Given the description of an element on the screen output the (x, y) to click on. 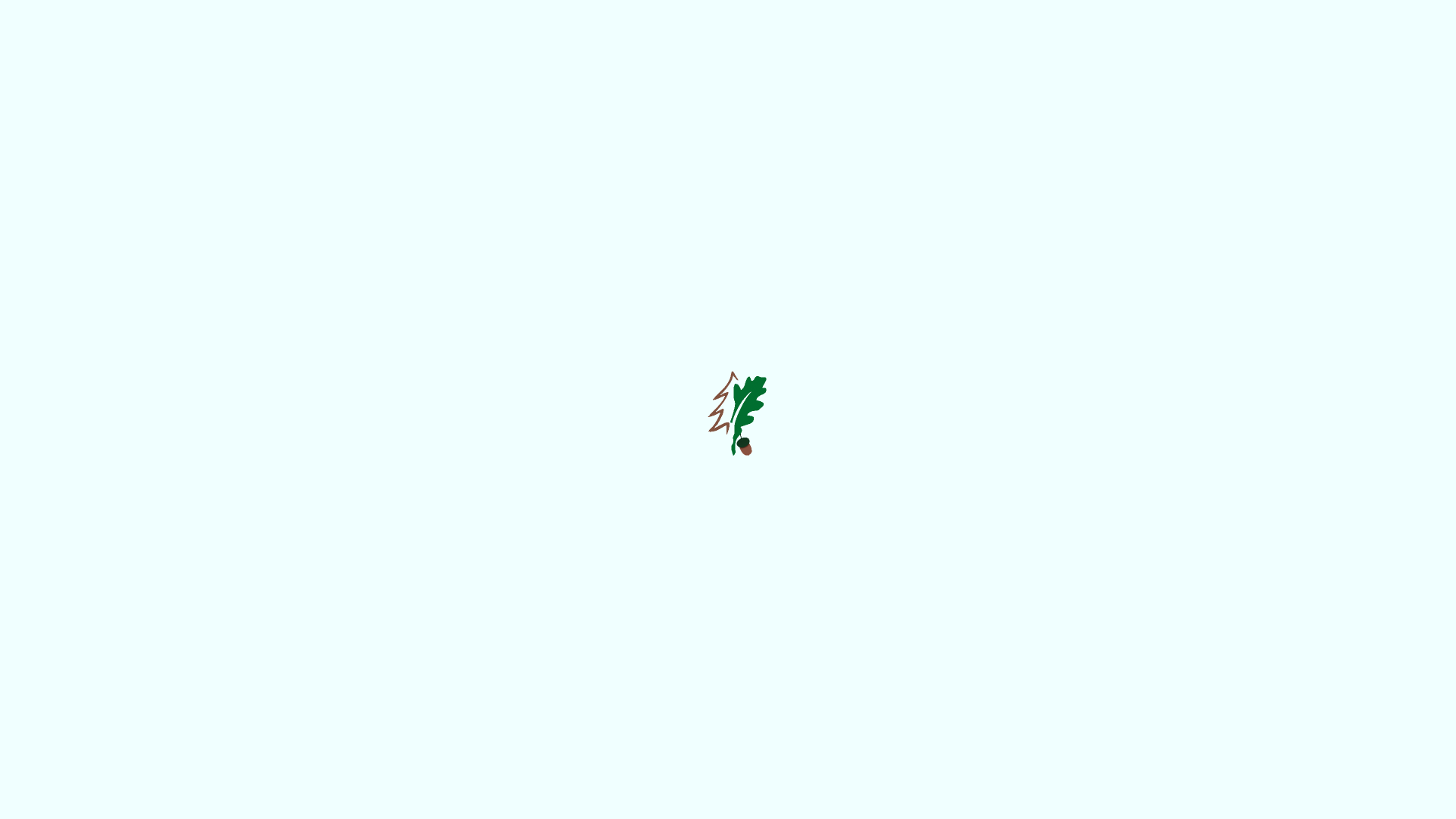
EN Element type: text (594, 43)
INFO@BORISOVLESHOZ.BY Element type: text (1088, 592)
RU Element type: text (504, 43)
BE Element type: text (549, 43)
